Given the description of an element on the screen output the (x, y) to click on. 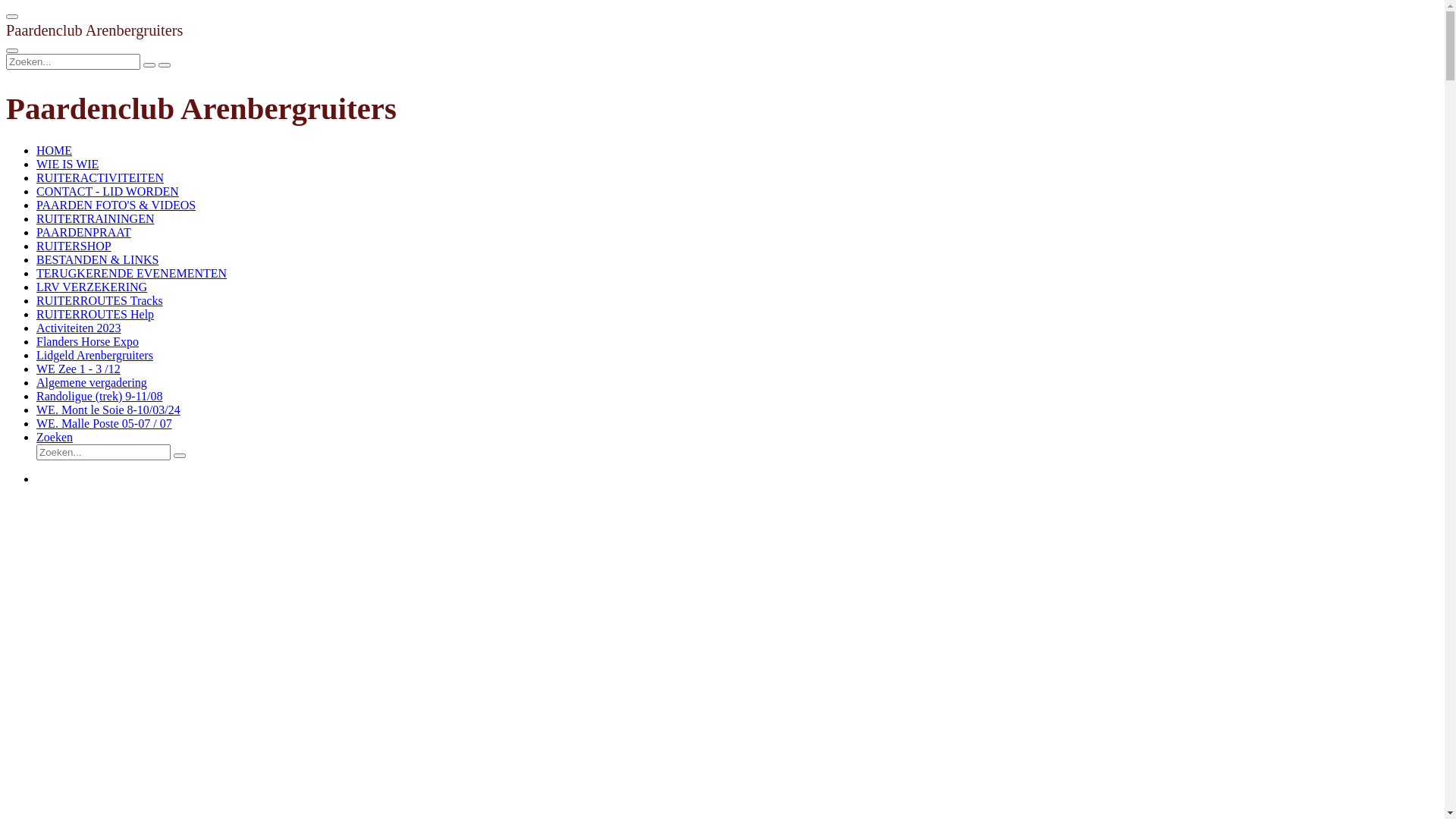
WE Zee 1 - 3 /12 Element type: text (78, 368)
Randoligue (trek) 9-11/08 Element type: text (99, 395)
WIE IS WIE Element type: text (67, 163)
BESTANDEN & LINKS Element type: text (97, 259)
PAARDEN FOTO'S & VIDEOS Element type: text (115, 204)
Zoeken Element type: text (54, 436)
RUITERROUTES Tracks Element type: text (99, 300)
Flanders Horse Expo Element type: text (87, 341)
HOME Element type: text (54, 150)
PAARDENPRAAT Element type: text (83, 231)
Lidgeld Arenbergruiters Element type: text (94, 354)
RUITERSHOP Element type: text (73, 245)
RUITERACTIVITEITEN Element type: text (99, 177)
Activiteiten 2023 Element type: text (78, 327)
WE. Mont le Soie 8-10/03/24 Element type: text (108, 409)
TERUGKERENDE EVENEMENTEN Element type: text (131, 272)
RUITERROUTES Help Element type: text (94, 313)
CONTACT - LID WORDEN Element type: text (107, 191)
WE. Malle Poste 05-07 / 07 Element type: text (104, 423)
LRV VERZEKERING Element type: text (91, 286)
Algemene vergadering Element type: text (91, 382)
RUITERTRAININGEN Element type: text (94, 218)
